Given the description of an element on the screen output the (x, y) to click on. 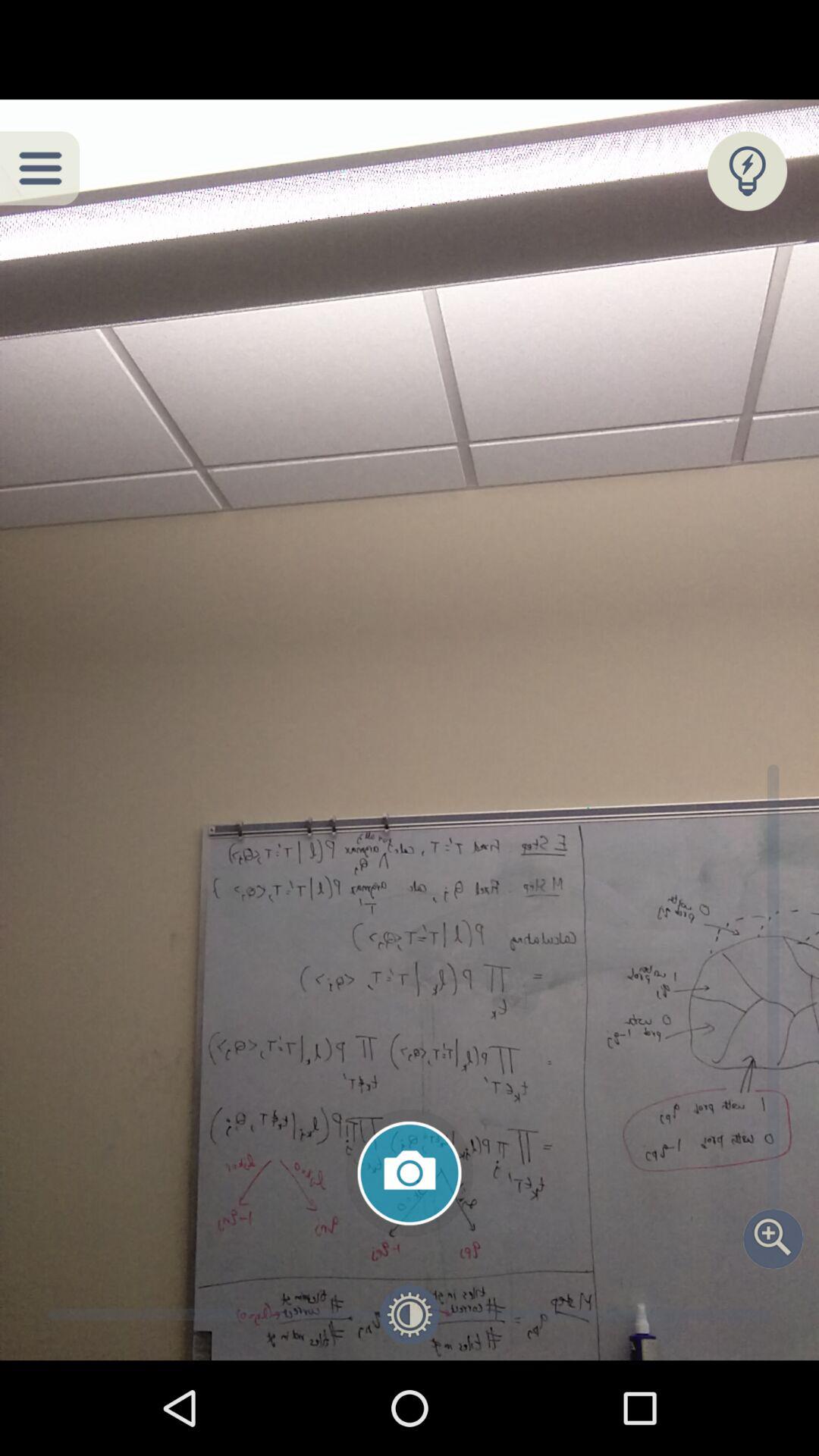
flash on (747, 171)
